Given the description of an element on the screen output the (x, y) to click on. 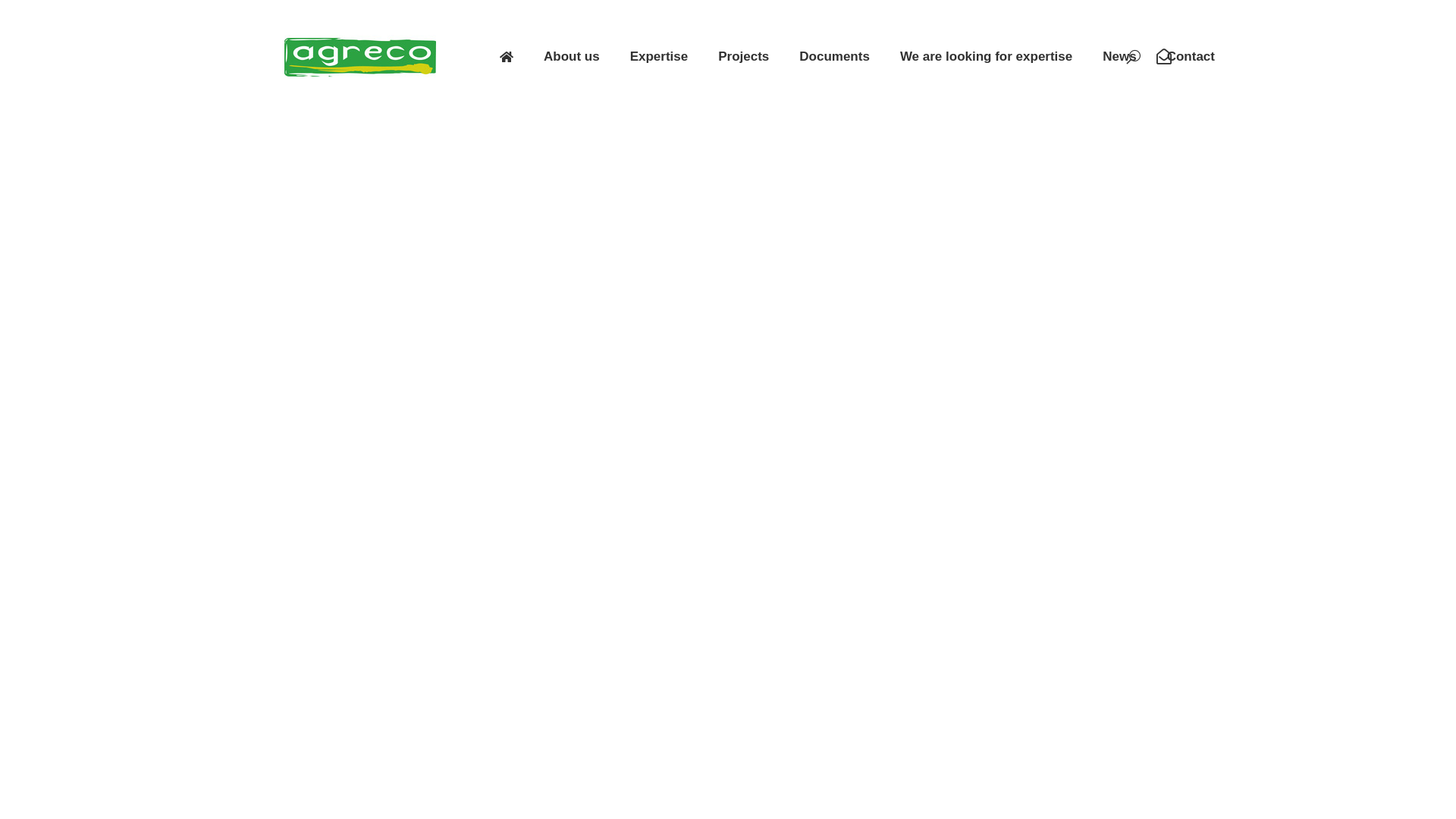
Documents Element type: text (834, 56)
Expertise Element type: text (659, 56)
Projects Element type: text (743, 56)
News Element type: text (1119, 56)
About us Element type: text (571, 56)
Contact Element type: text (1190, 56)
We are looking for expertise Element type: text (985, 56)
